Given the description of an element on the screen output the (x, y) to click on. 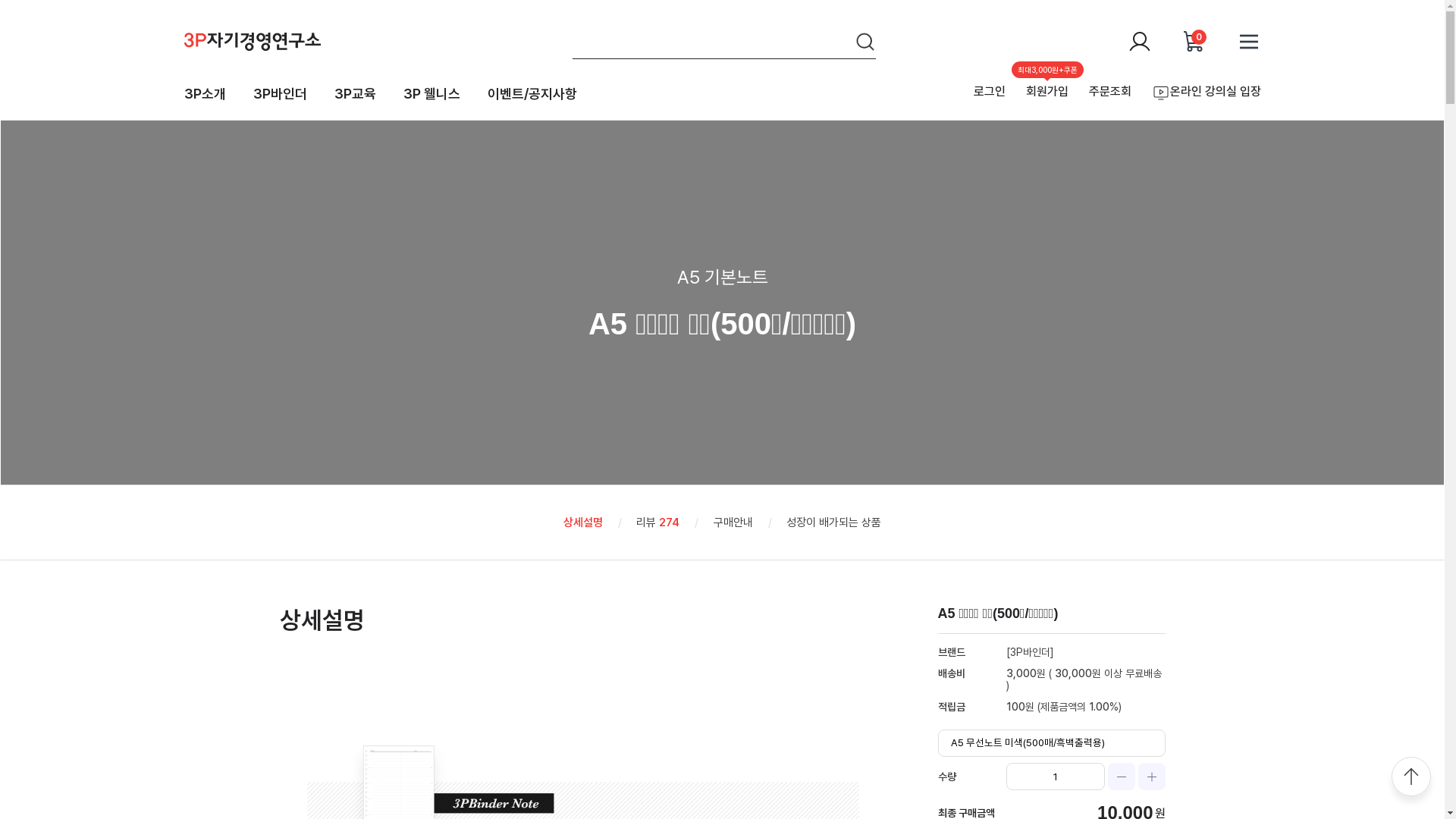
0 Element type: text (1193, 41)
1 Element type: text (1054, 776)
